Given the description of an element on the screen output the (x, y) to click on. 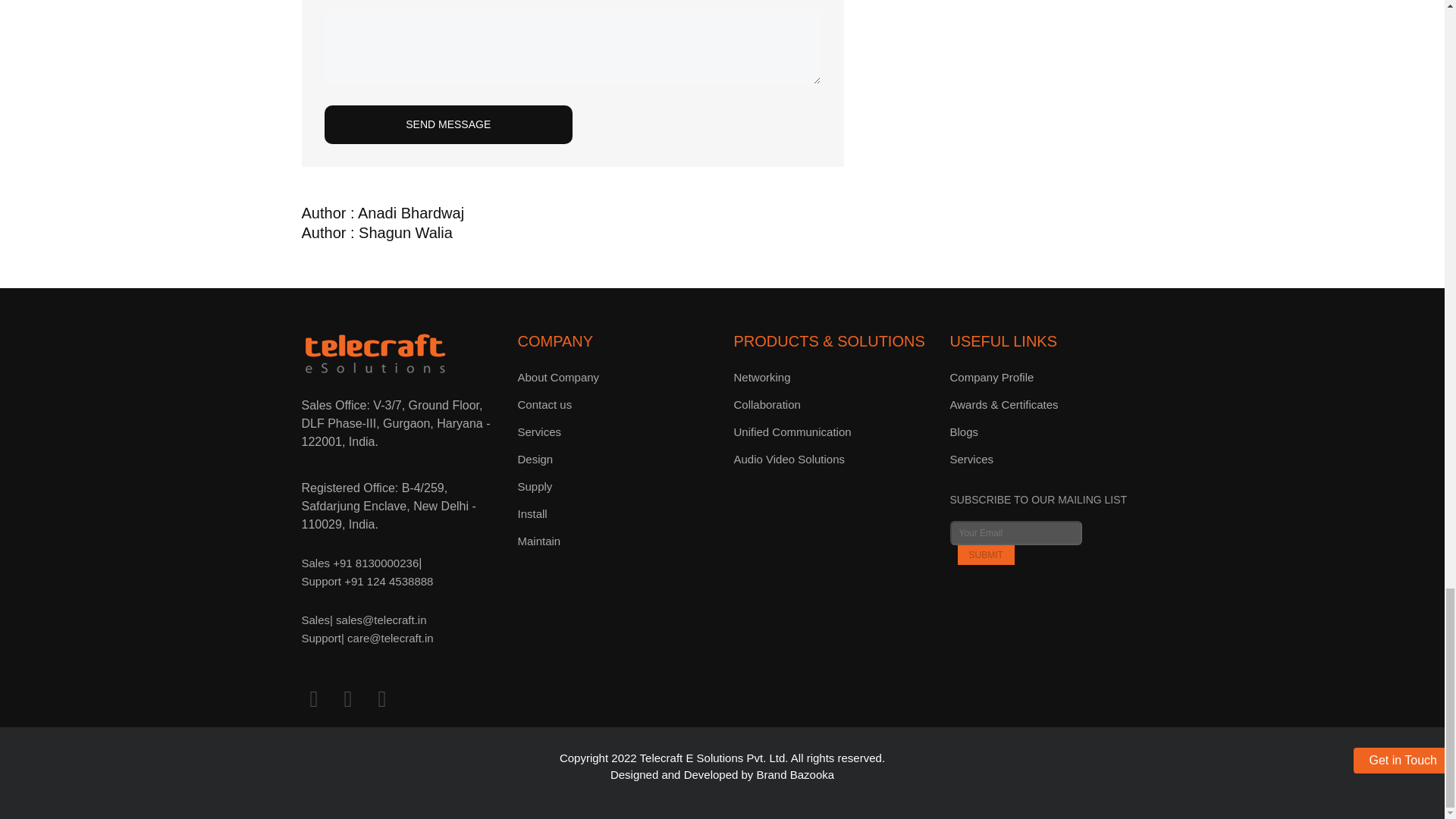
SEND MESSAGE (448, 124)
